Given the description of an element on the screen output the (x, y) to click on. 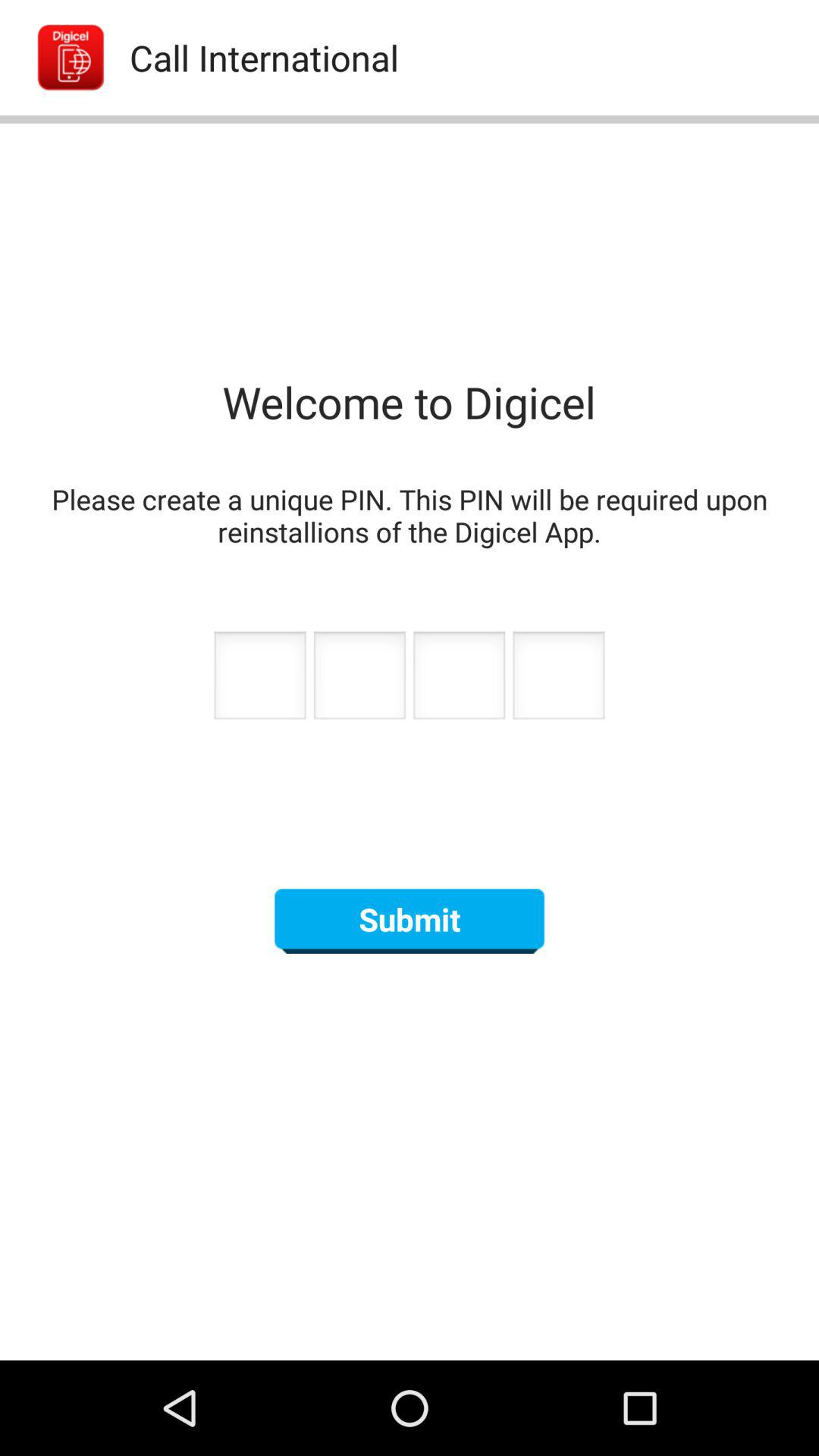
enter fourth number of pin (558, 679)
